Given the description of an element on the screen output the (x, y) to click on. 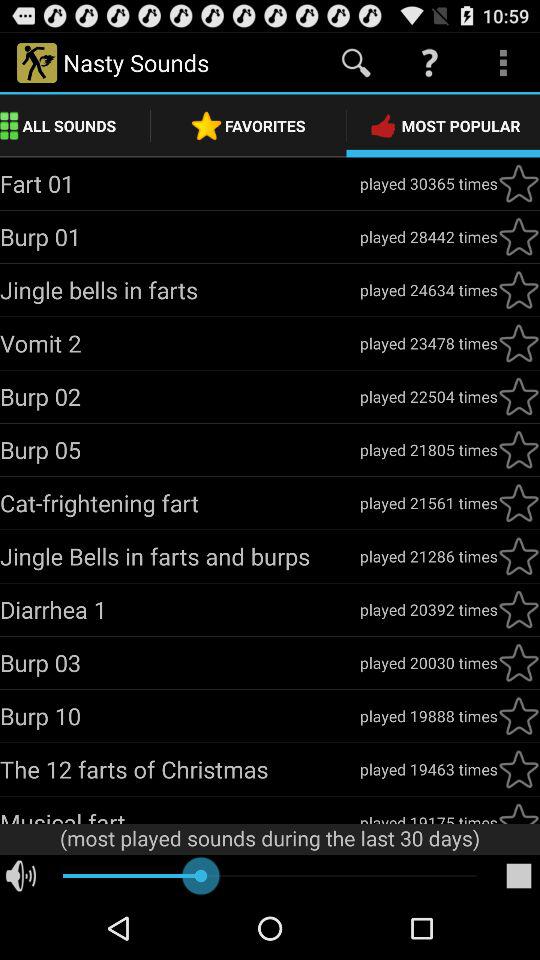
add to favorites (519, 609)
